Given the description of an element on the screen output the (x, y) to click on. 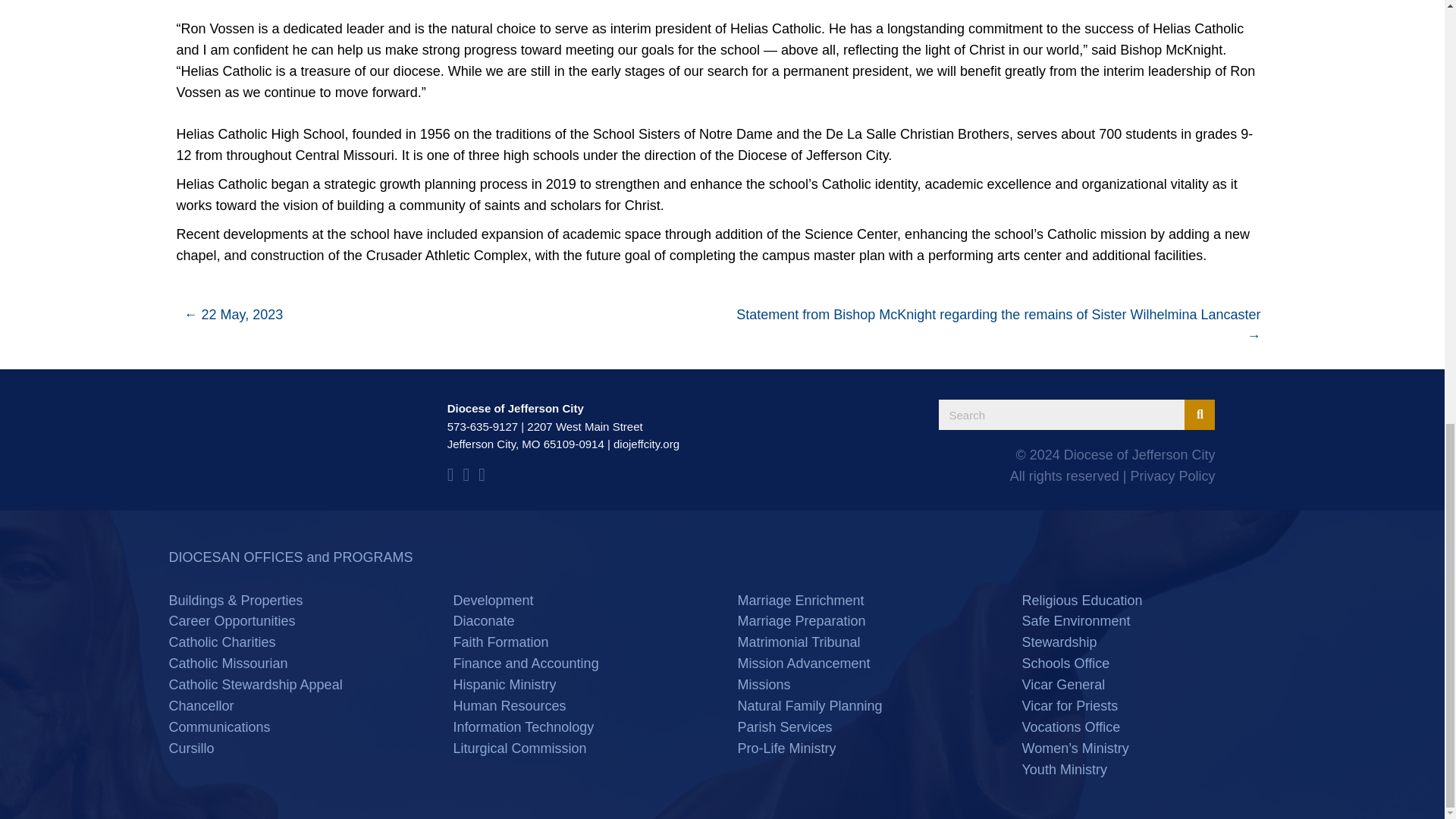
DioJC Logo Web 2021 1CW (285, 443)
Search (1062, 414)
